Given the description of an element on the screen output the (x, y) to click on. 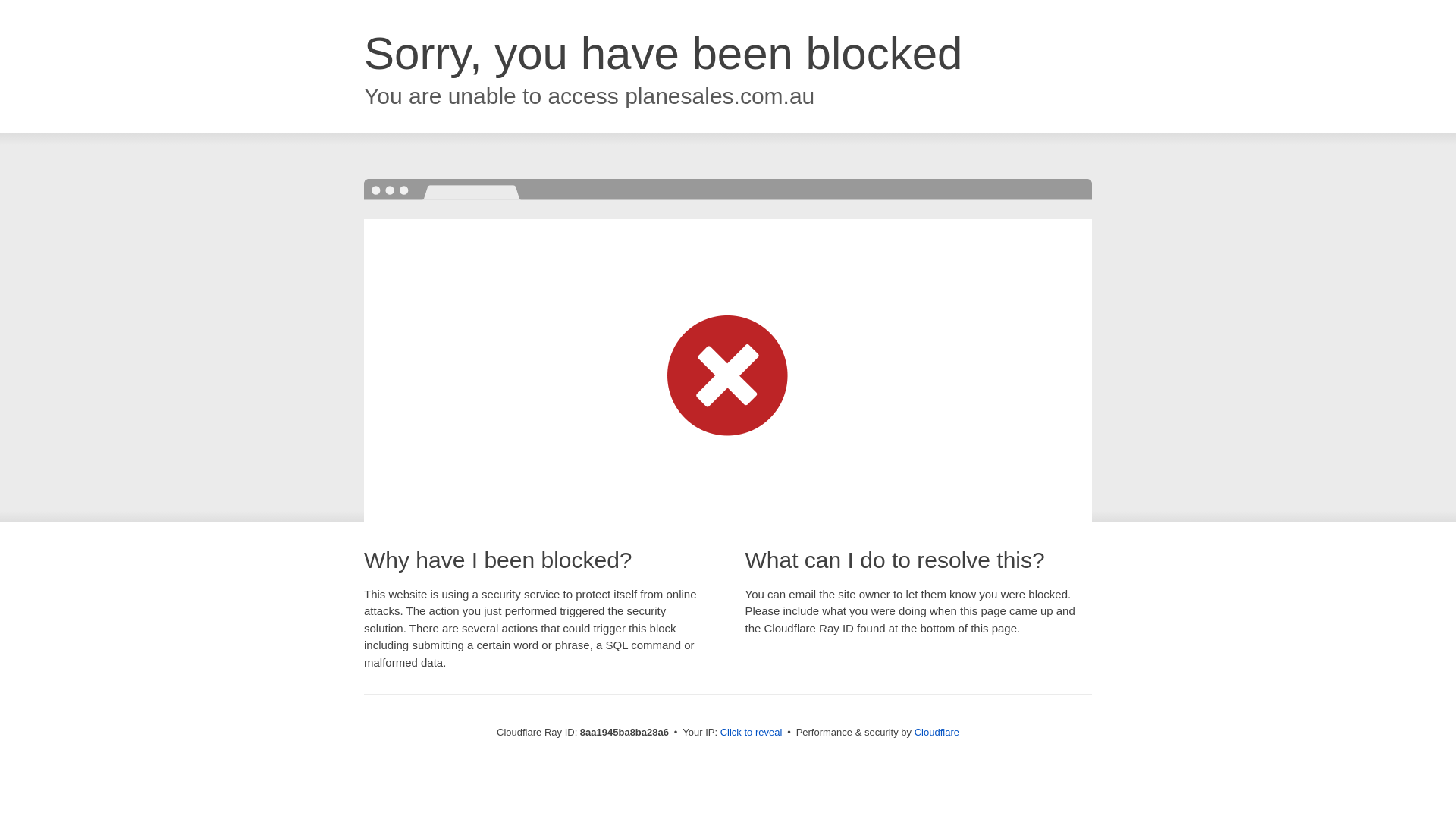
Cloudflare (936, 731)
Click to reveal (751, 732)
